Given the description of an element on the screen output the (x, y) to click on. 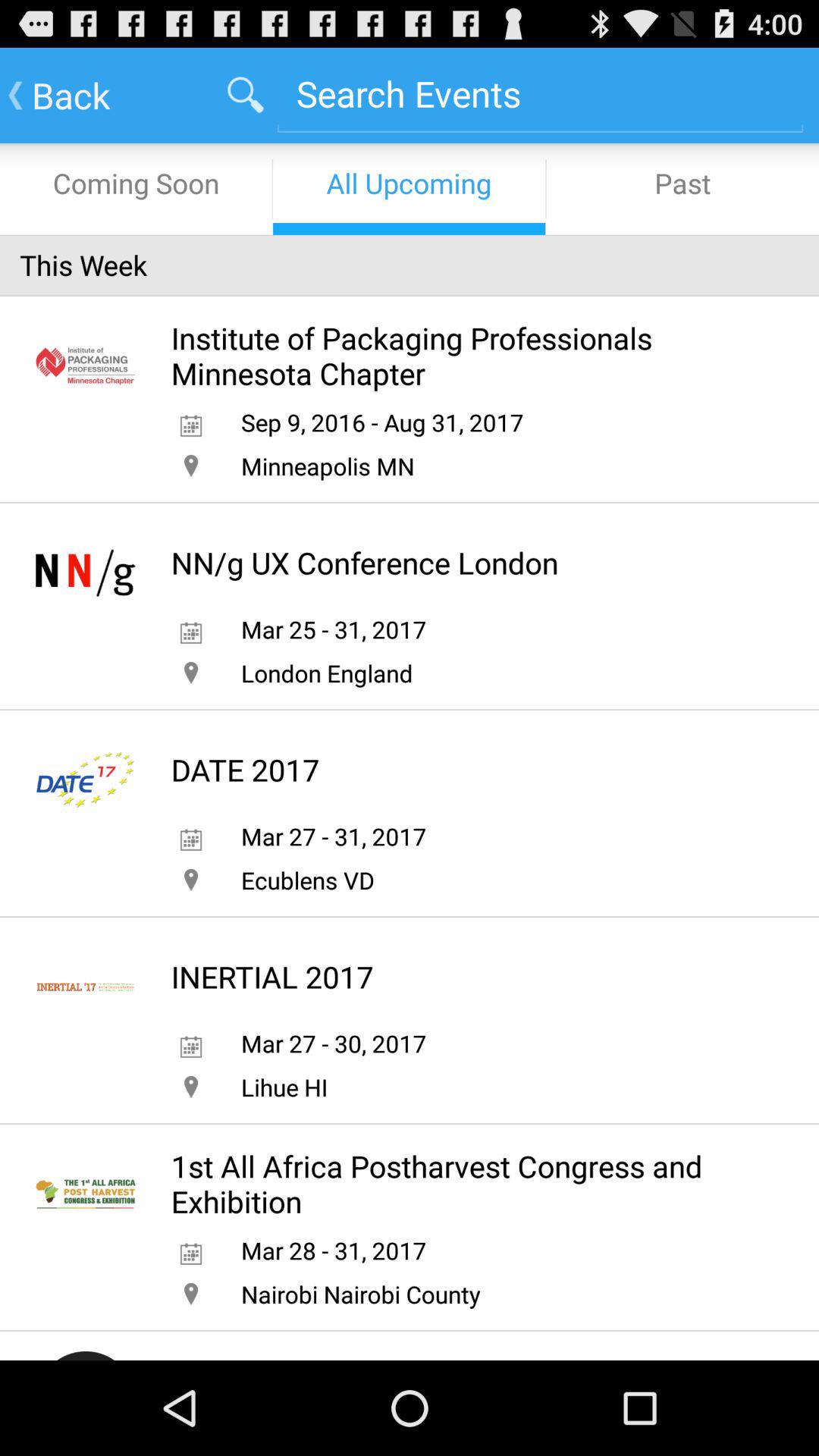
turn on institute of packaging item (463, 355)
